Given the description of an element on the screen output the (x, y) to click on. 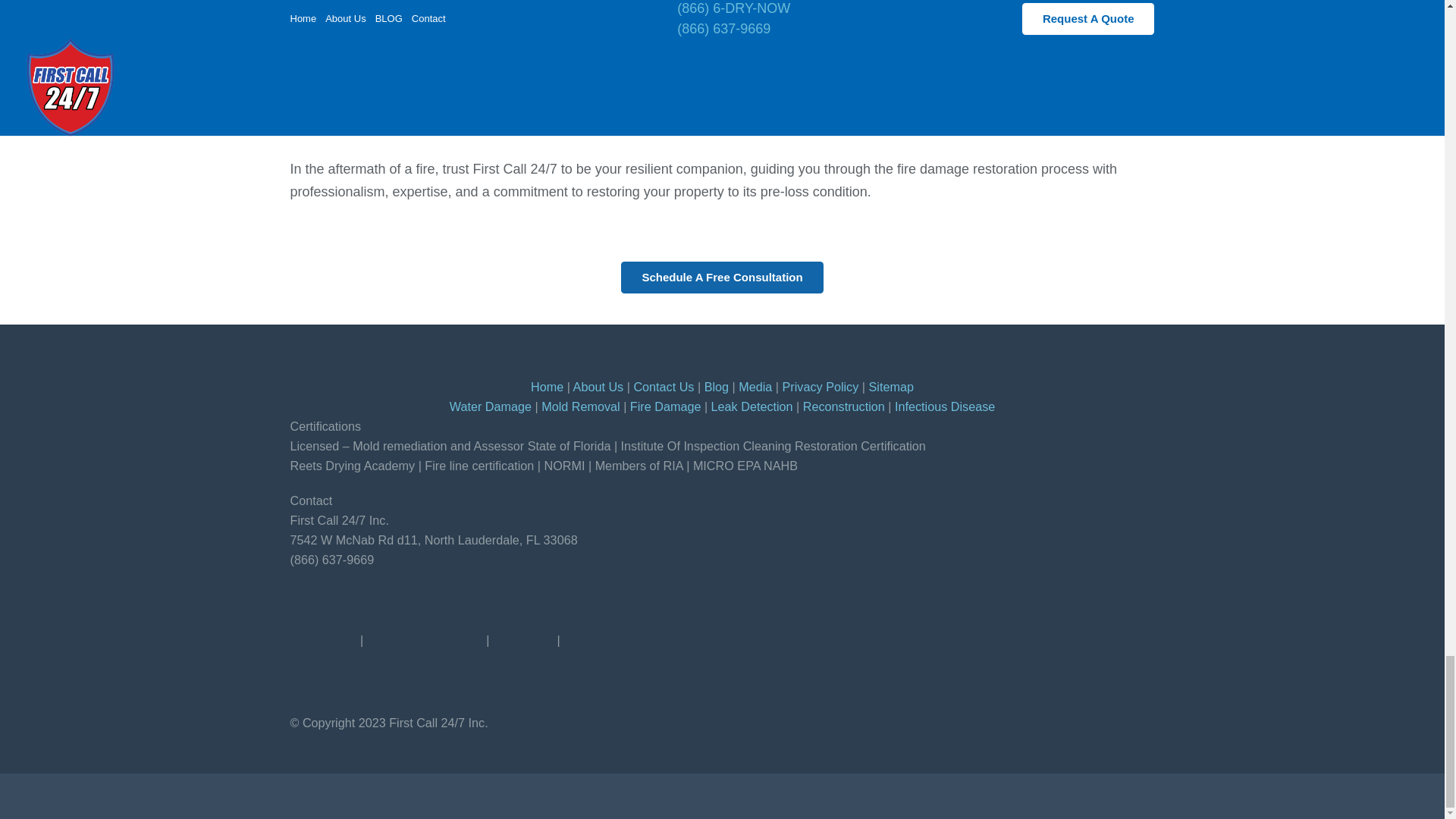
Mold Removal (580, 406)
Leak Detection (752, 406)
Privacy Policy (821, 386)
Contact (721, 277)
Schedule A Free Consultation (721, 277)
Fire Damage (665, 406)
Blog (716, 386)
Sitemap (891, 386)
Media (754, 386)
Reconstruction (844, 406)
Home (547, 386)
Contact Us (663, 386)
About Us (598, 386)
Water Damage (490, 406)
